Given the description of an element on the screen output the (x, y) to click on. 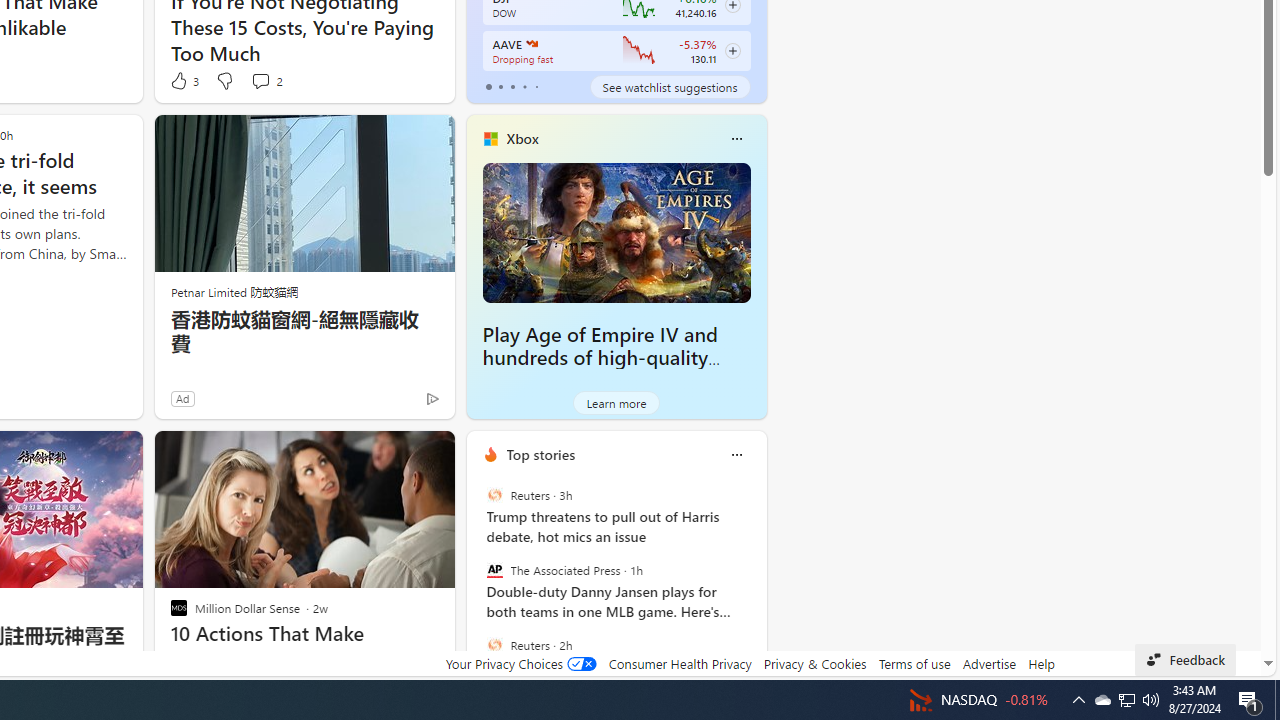
View comments 2 Comment (265, 80)
The Associated Press (494, 570)
3 Like (183, 80)
tab-0 (488, 86)
View comments 2 Comment (260, 80)
